Given the description of an element on the screen output the (x, y) to click on. 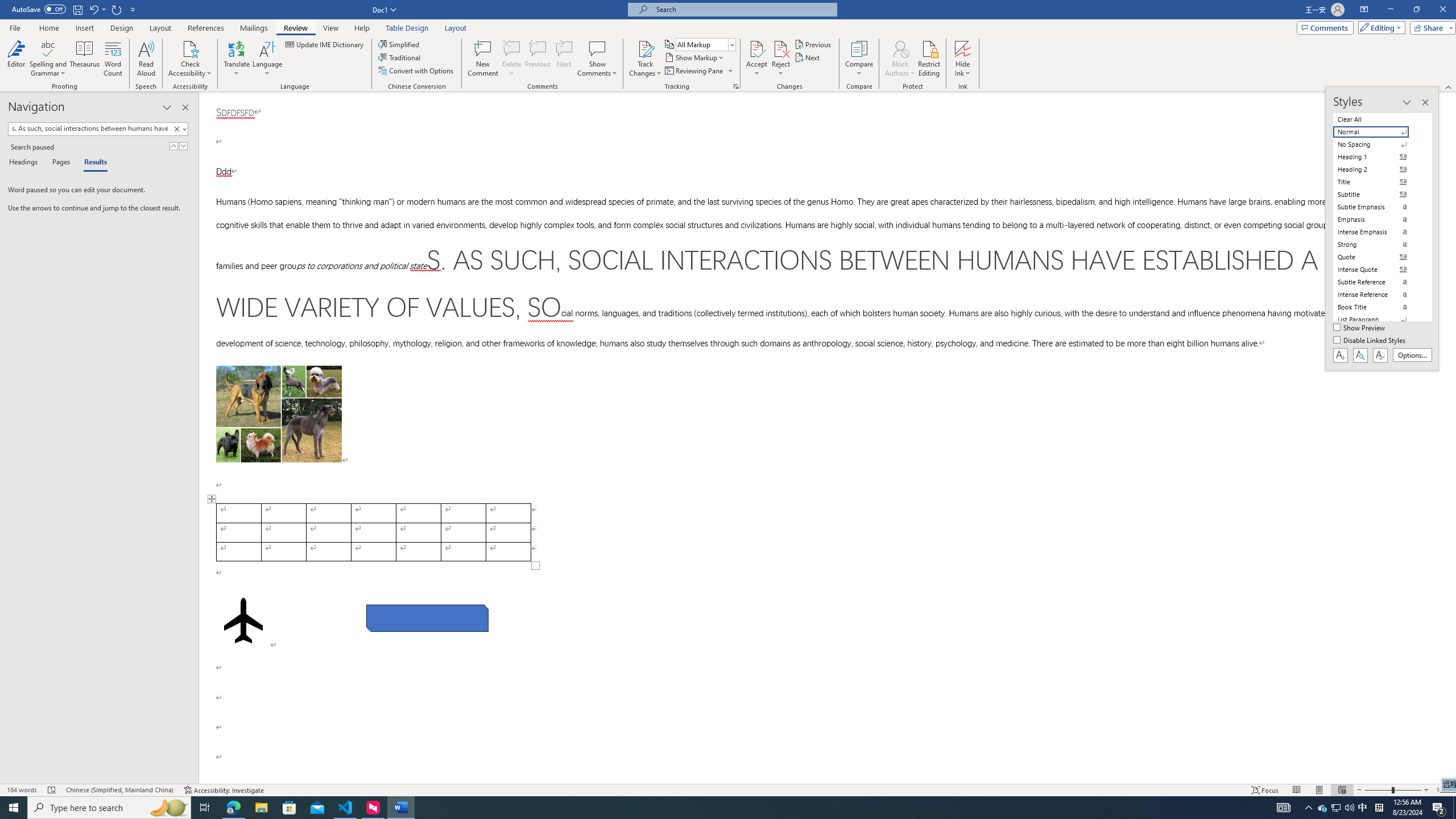
Airplane with solid fill (242, 619)
Reject and Move to Next (780, 48)
Undo Style (96, 9)
Options... (1412, 354)
Accept and Move to Next (756, 48)
Rectangle: Diagonal Corners Snipped 2 (427, 618)
Spelling and Grammar (48, 48)
Clear (178, 128)
New Comment (482, 58)
Quote (1377, 256)
List Paragraph (1377, 319)
